Given the description of an element on the screen output the (x, y) to click on. 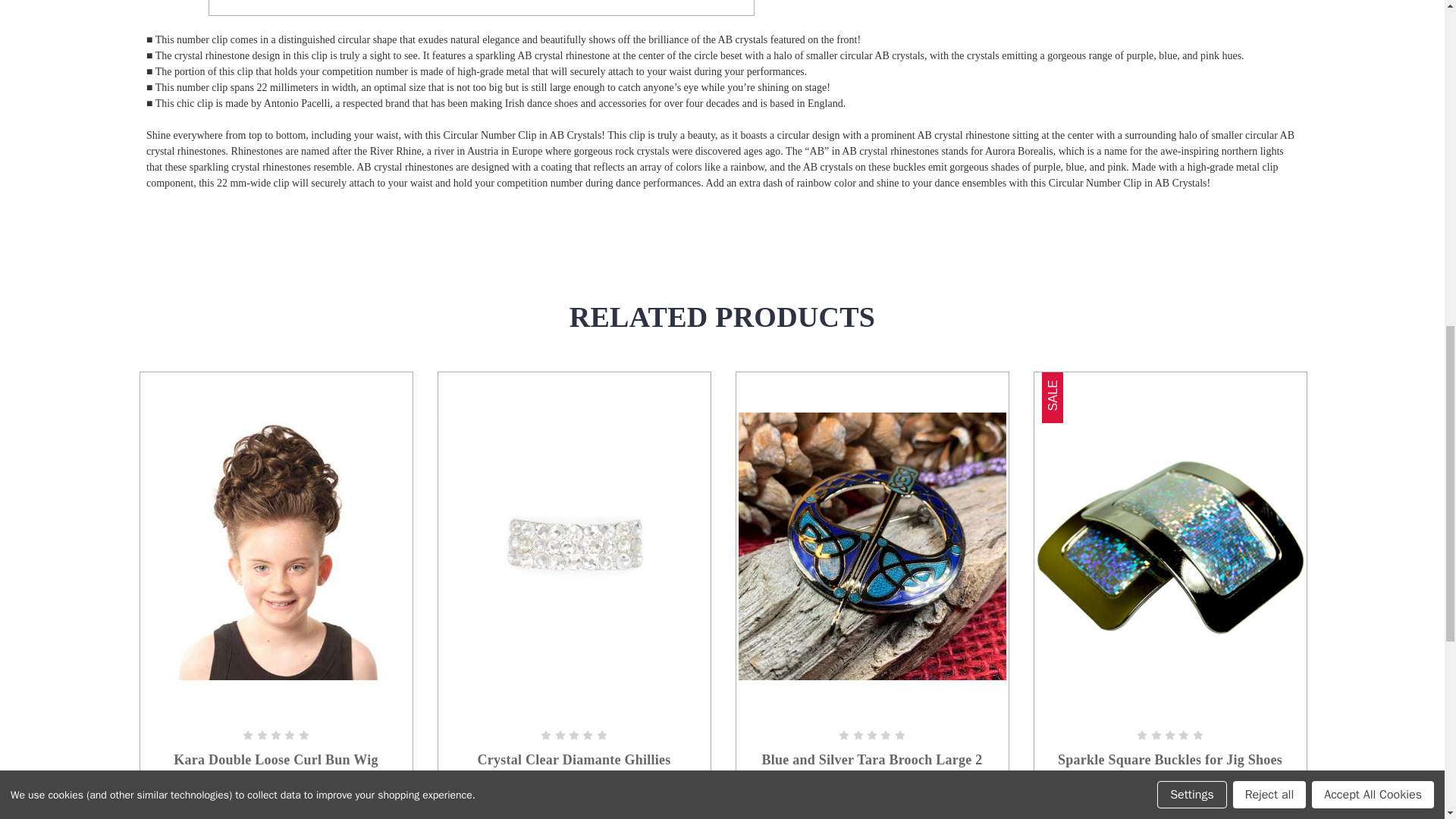
Kara Double Loose Curl Bun Wig Keilys.com (276, 546)
Crystal Clear Diamante Ghillies Buckles Keilys.com (573, 546)
TT7554-BLUE Brooch In Blue and Silver Colour On Keilys.com (872, 546)
Sparkle Square Buckles for Jig Shoes Keilys.com (1169, 546)
